Given the description of an element on the screen output the (x, y) to click on. 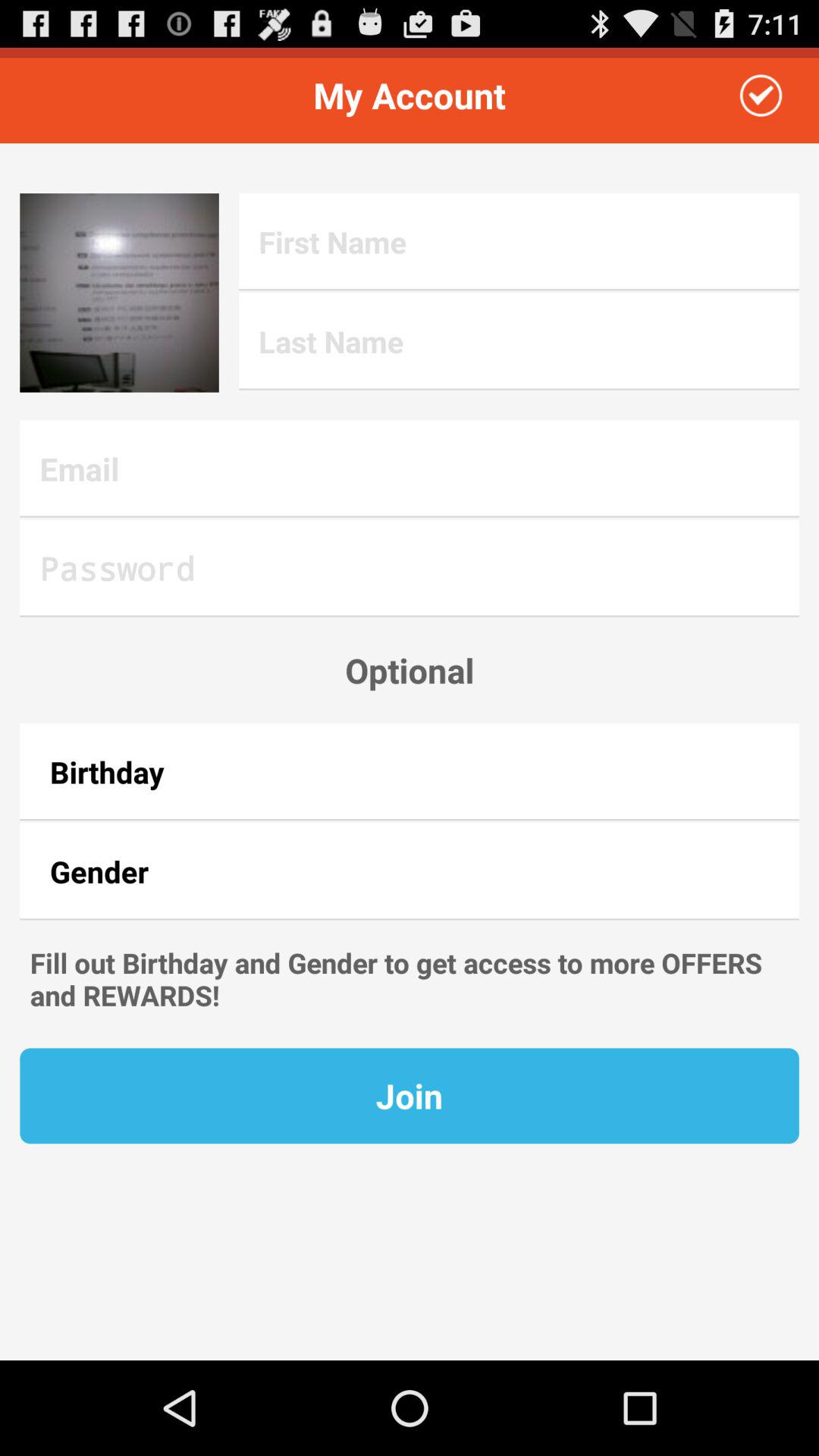
jump until join icon (409, 1095)
